Given the description of an element on the screen output the (x, y) to click on. 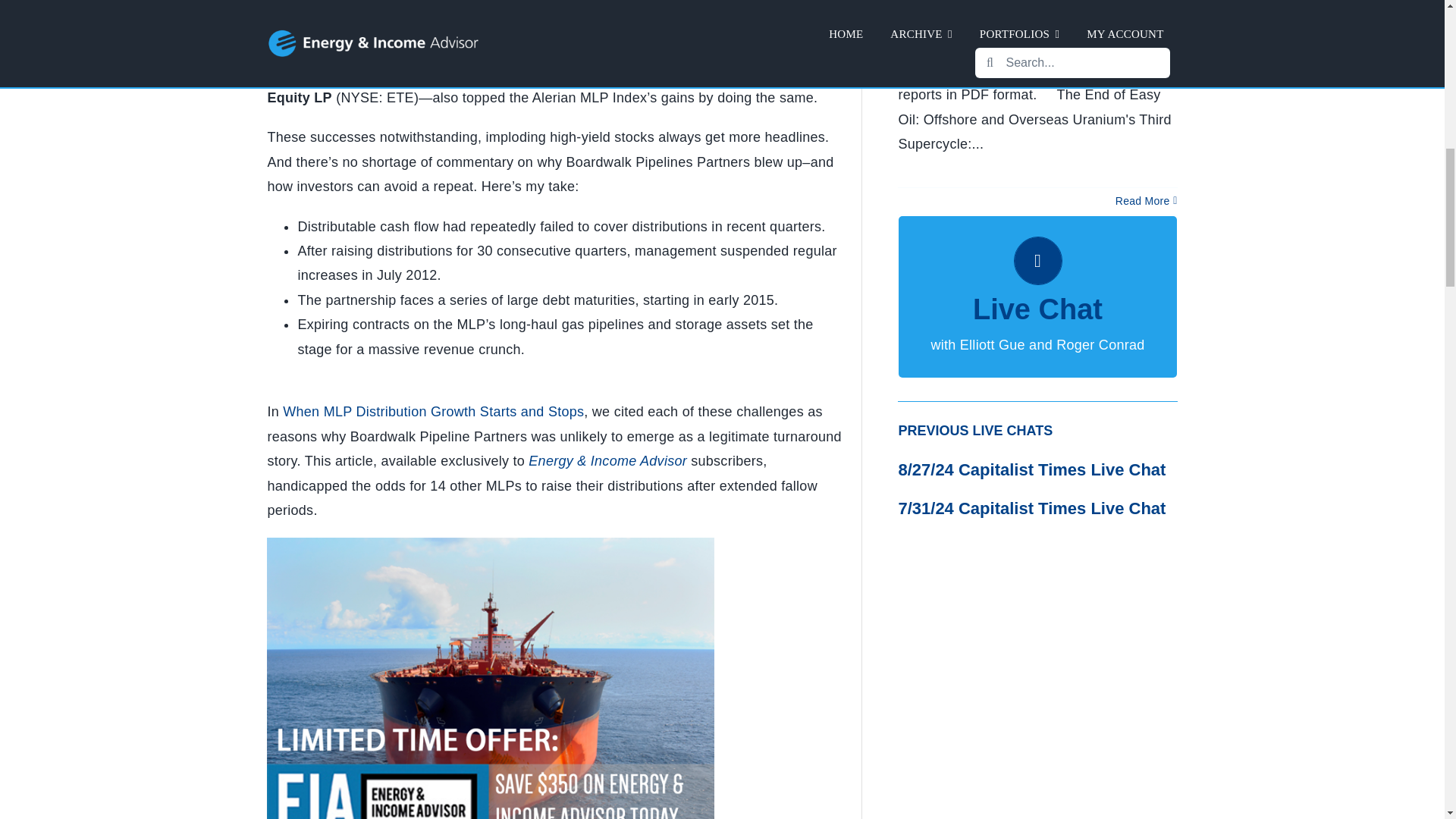
When MLP Distribution Growth Starts and Stops (432, 411)
Read More (1142, 200)
